Given the description of an element on the screen output the (x, y) to click on. 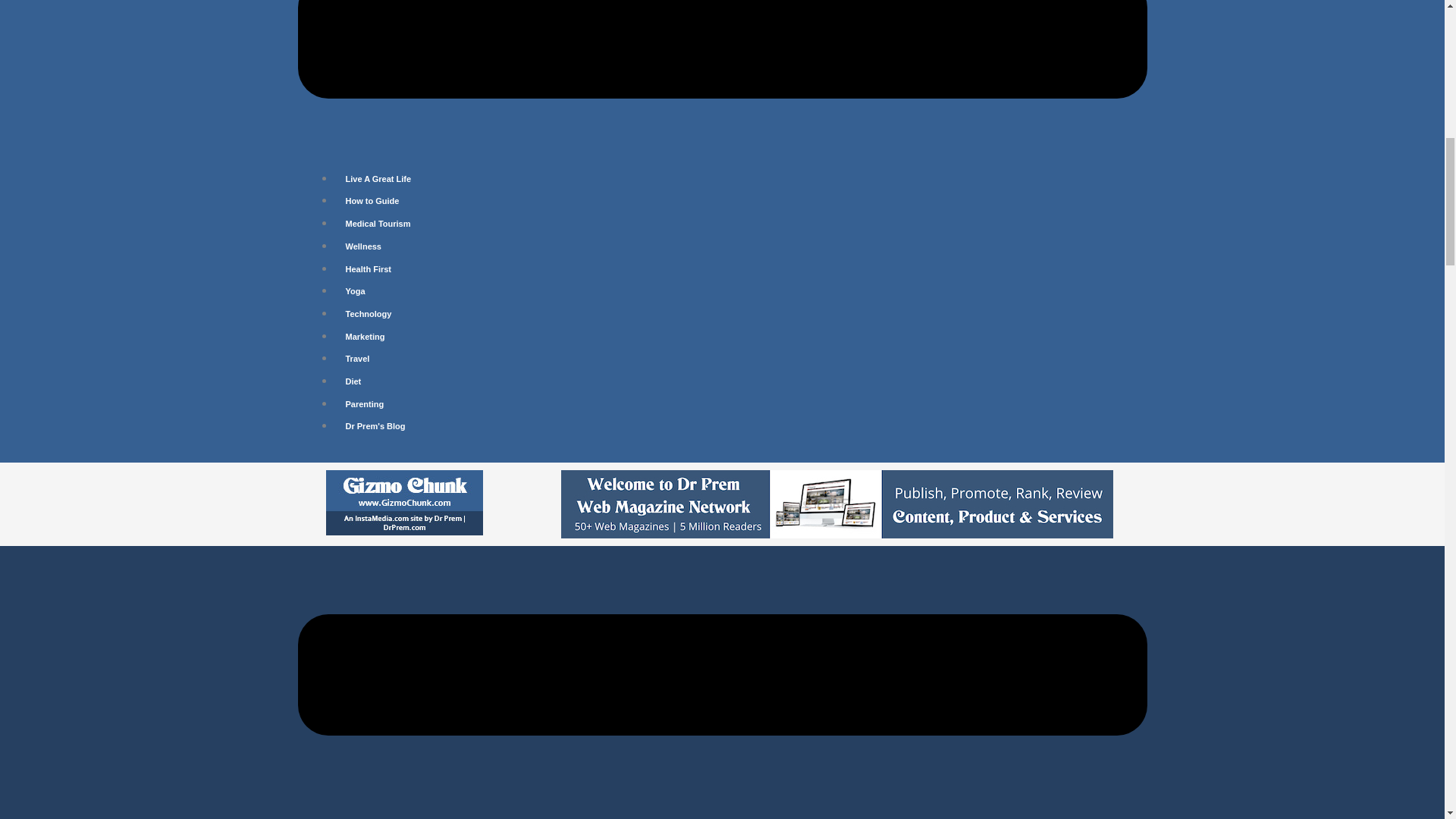
Diet (352, 381)
Dr Prem's Blog (374, 426)
Parenting (363, 404)
Yoga (354, 291)
How to Guide (371, 201)
Technology (368, 314)
Travel (356, 358)
Health First (368, 269)
Live A Great Life (377, 178)
Wellness (363, 246)
Medical Tourism (377, 223)
Marketing (364, 336)
